Given the description of an element on the screen output the (x, y) to click on. 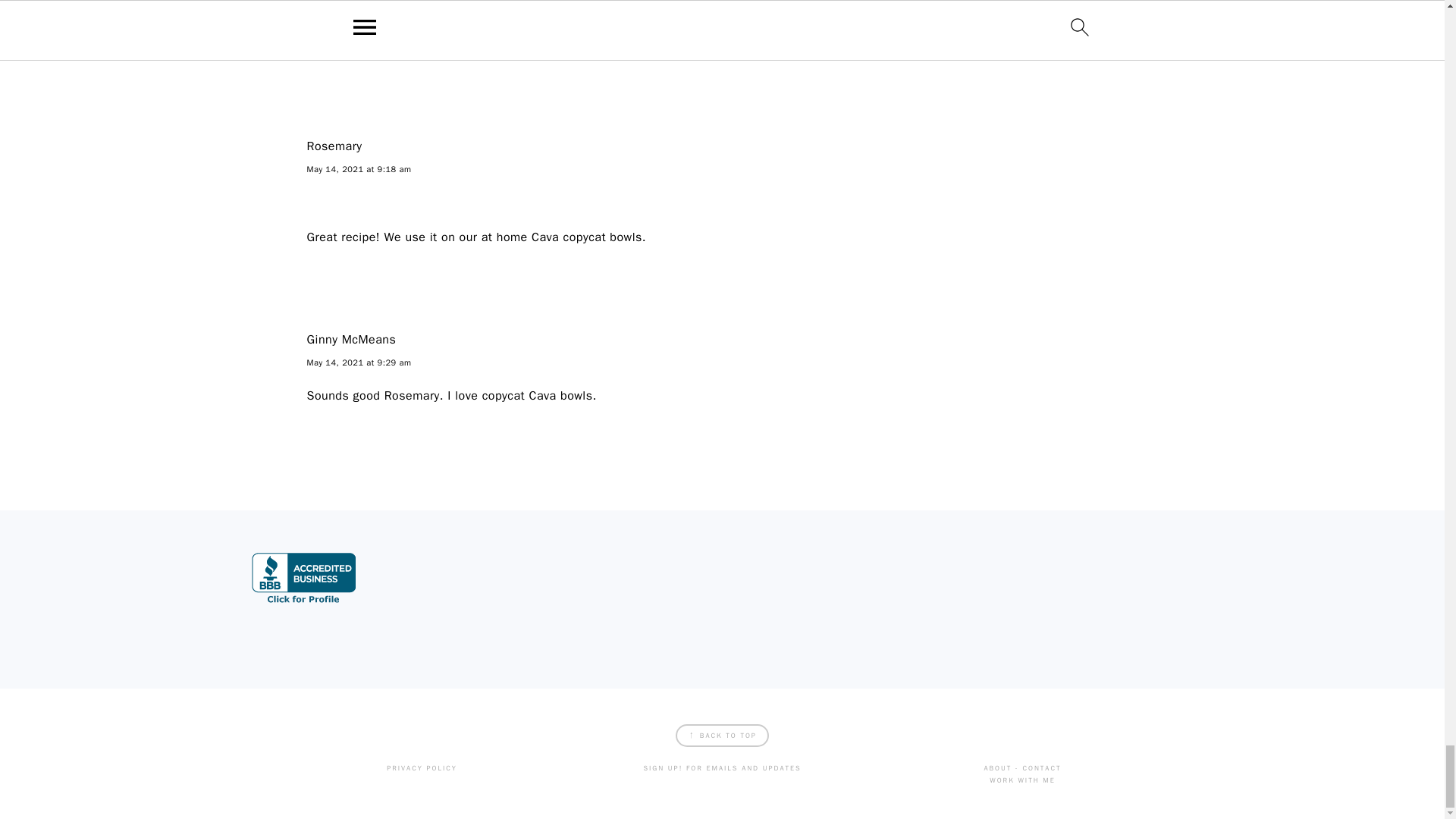
Customer reviews powered by Trustpilot (468, 582)
DMCA.com Protection Status (695, 582)
